Given the description of an element on the screen output the (x, y) to click on. 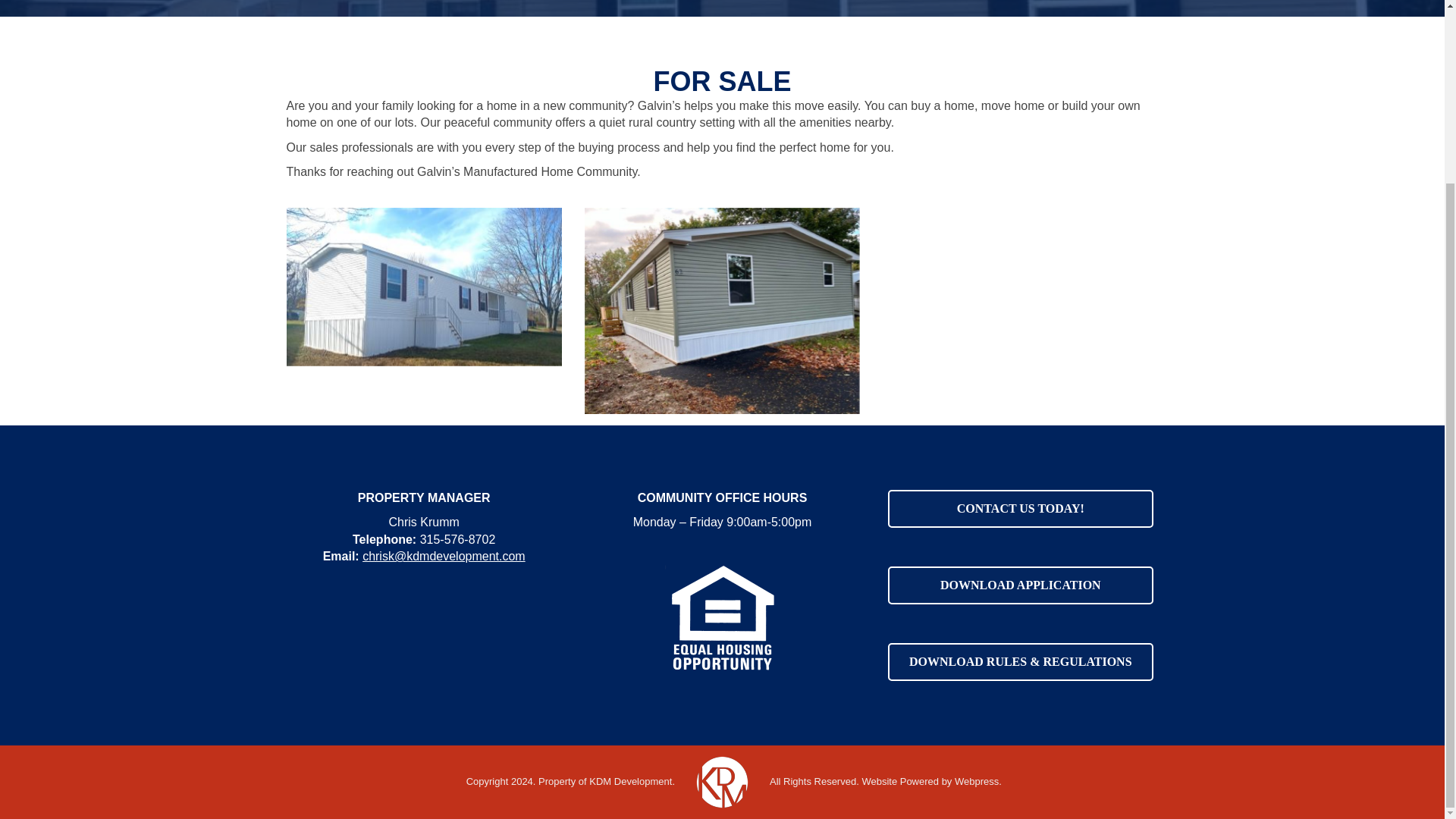
Webpress (976, 781)
Equal Housing Opportunity (721, 614)
House pic Lot 101 (424, 287)
KDM Development (630, 781)
Contact Us (1020, 508)
DOWNLOAD APPLICATION (1020, 585)
CONTACT US TODAY! (1020, 508)
Outside Image (722, 311)
